Given the description of an element on the screen output the (x, y) to click on. 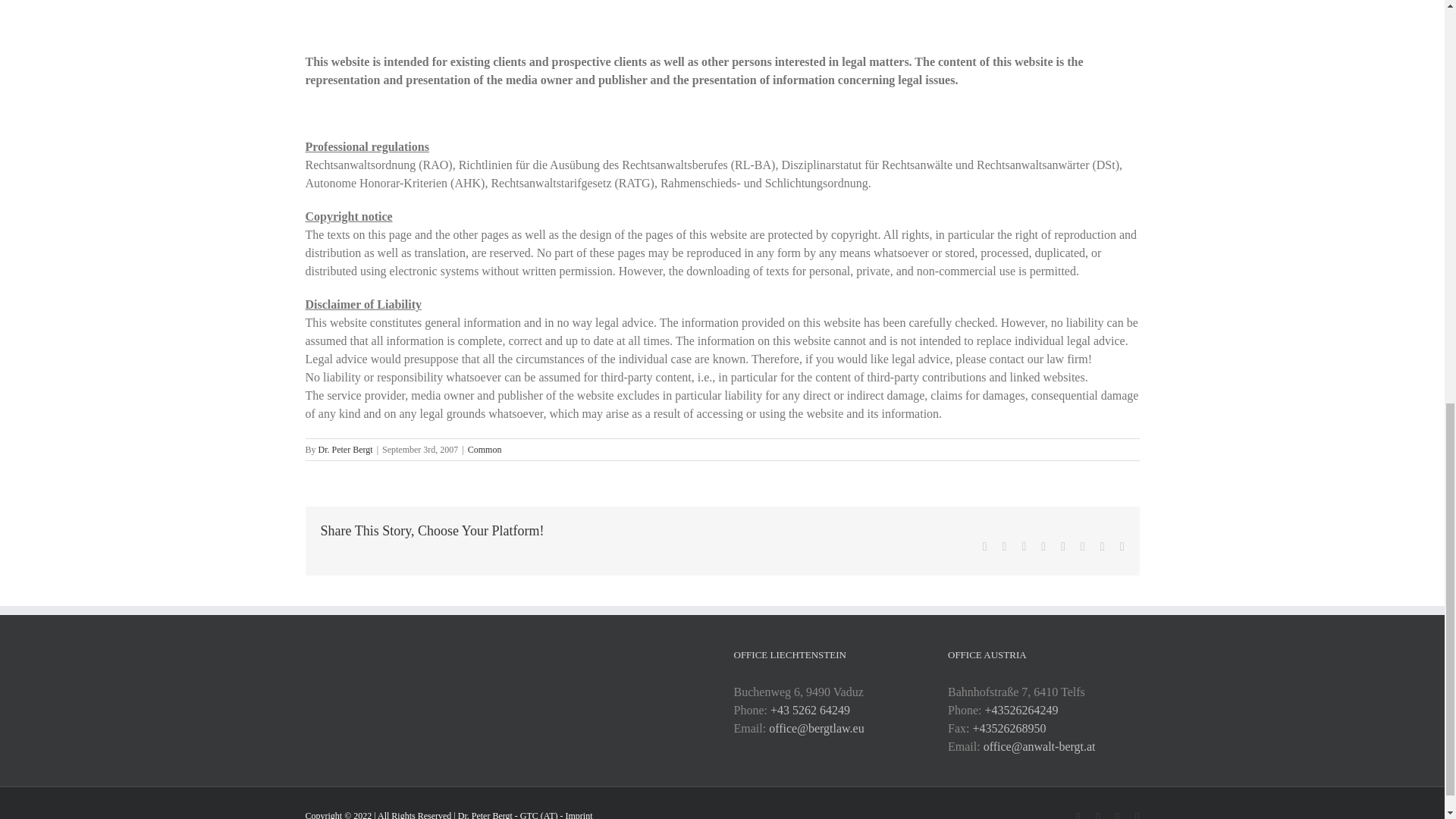
Posts by Dr. Peter Bergt (345, 449)
X (1005, 546)
Pinterest (1082, 546)
Reddit (1024, 546)
Tumblr (1063, 546)
Facebook (984, 546)
Dr. Peter Bergt (345, 449)
LinkedIn (1043, 546)
Common (484, 449)
Facebook (984, 546)
